Given the description of an element on the screen output the (x, y) to click on. 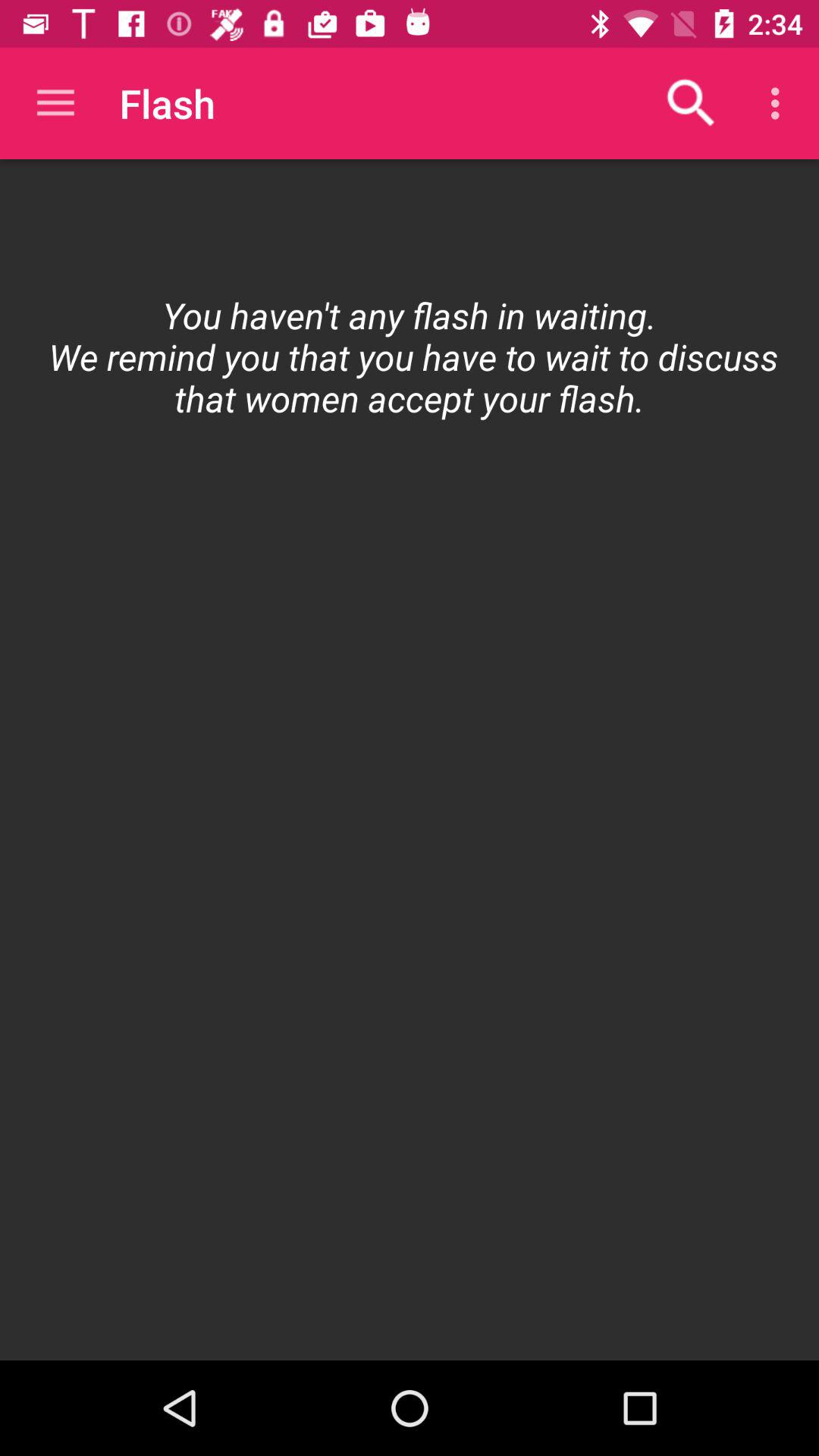
click the item above the   icon (691, 103)
